Given the description of an element on the screen output the (x, y) to click on. 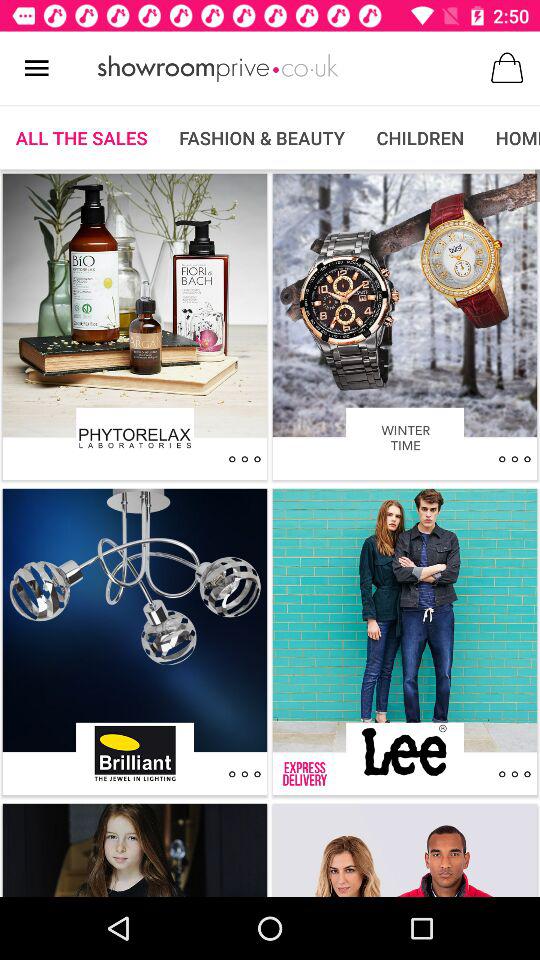
other options (514, 774)
